Given the description of an element on the screen output the (x, y) to click on. 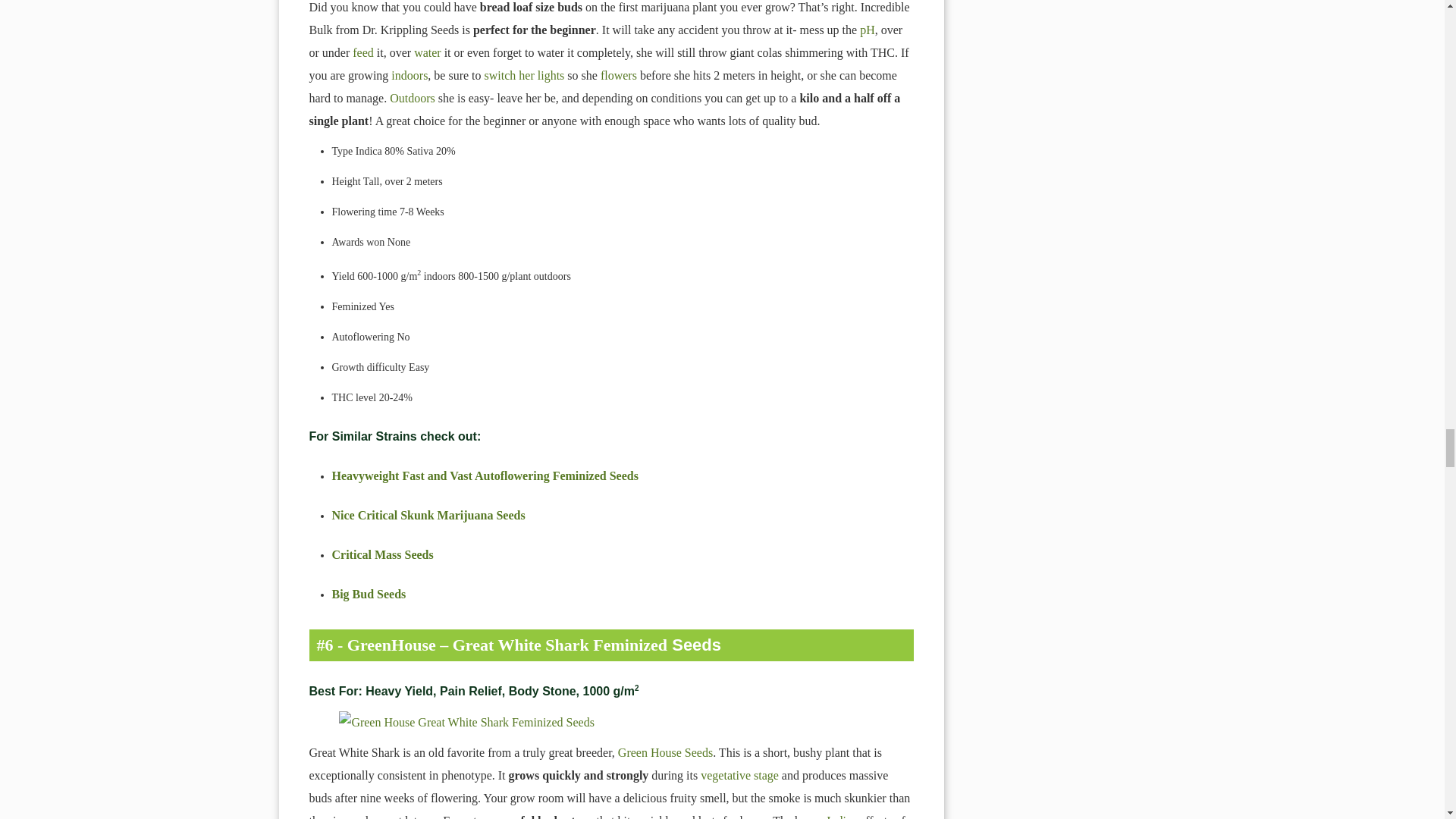
Green House Great White Shark Feminized Seeds (611, 722)
